Given the description of an element on the screen output the (x, y) to click on. 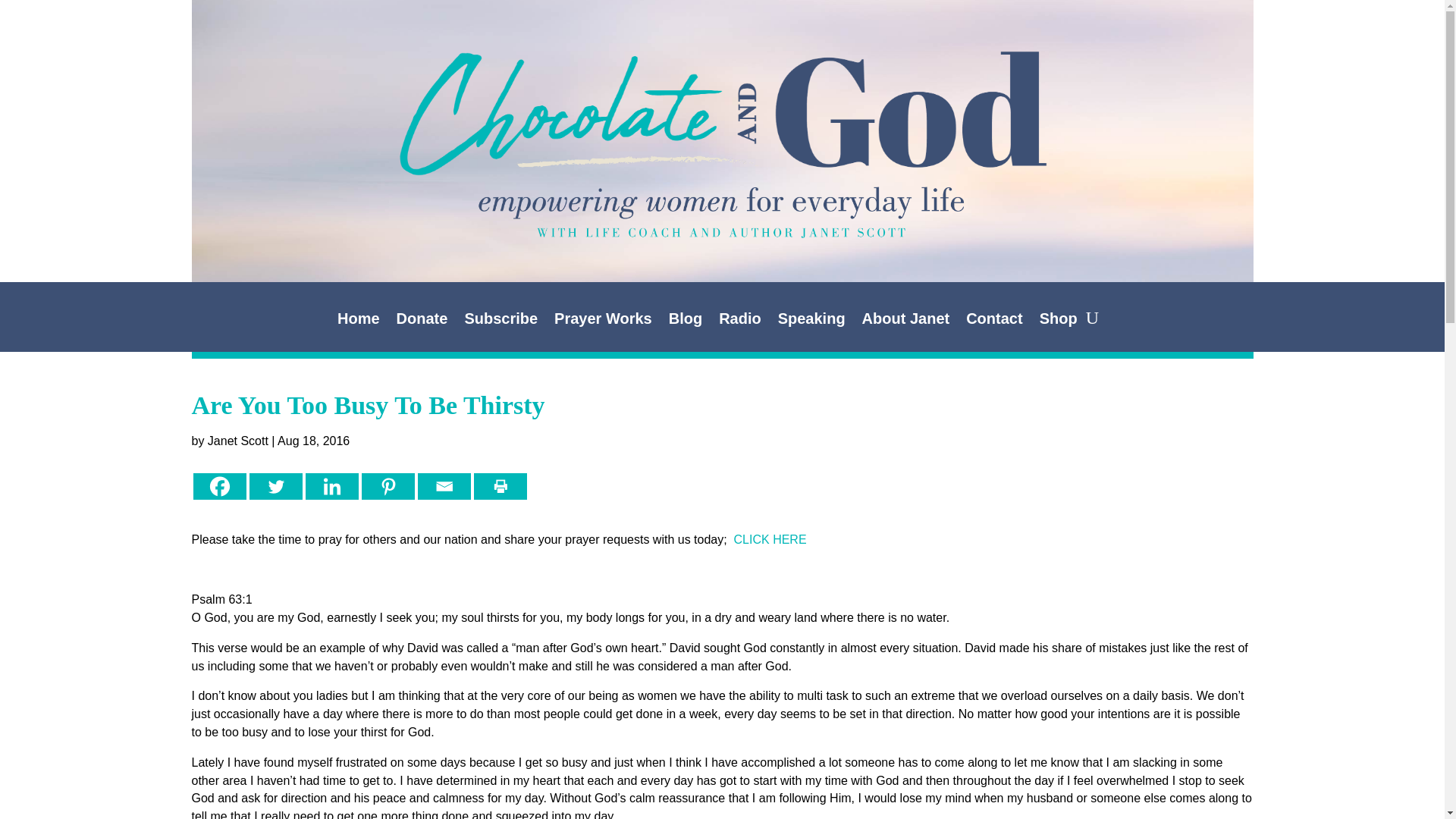
CLICK HERE (769, 539)
Shop (1058, 321)
Twitter (274, 486)
Donate (422, 321)
Facebook (219, 486)
Contact (994, 321)
Linkedin (331, 486)
Print (499, 486)
main-logo (721, 111)
About Janet (905, 321)
